Given the description of an element on the screen output the (x, y) to click on. 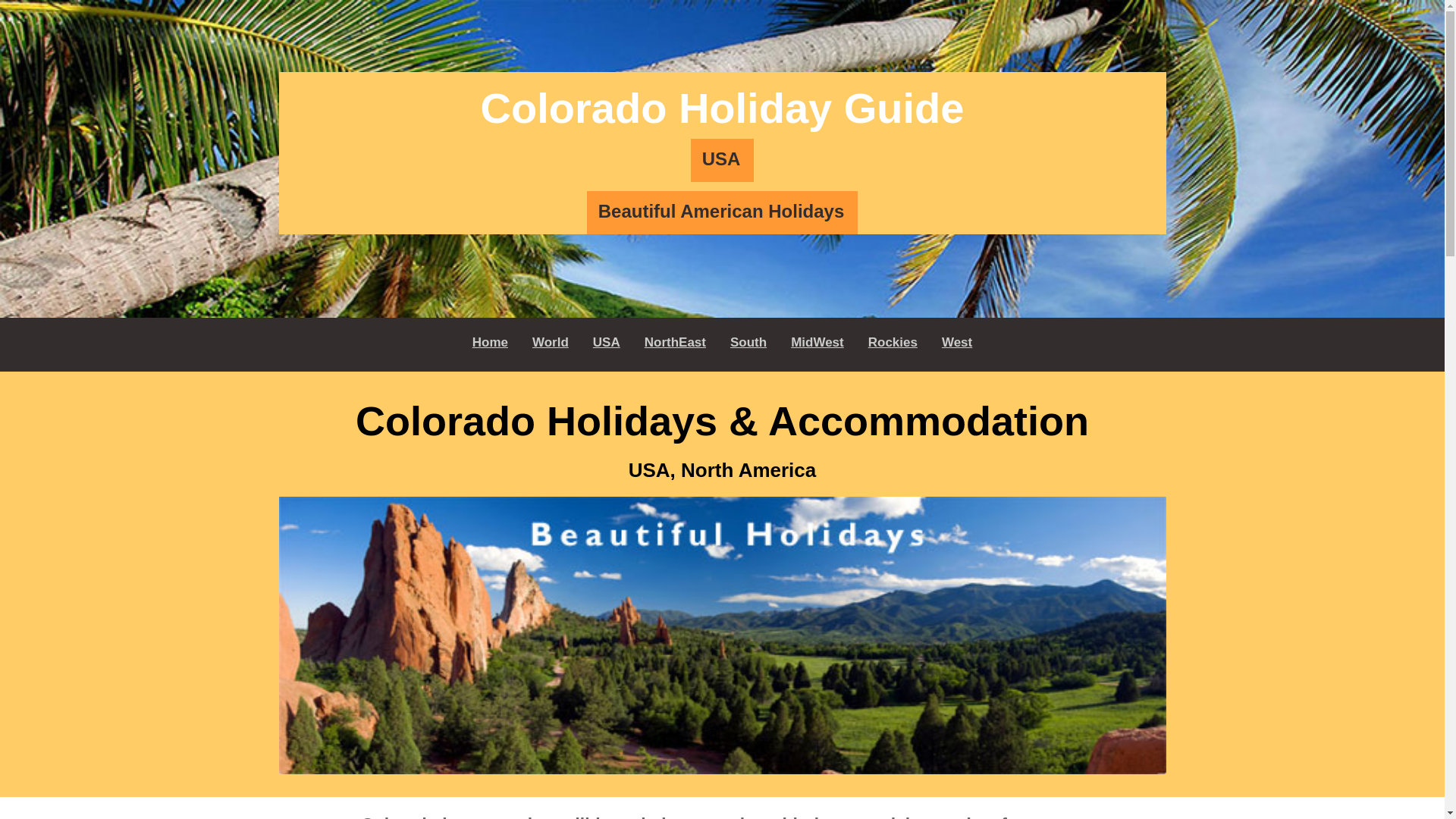
USA (722, 159)
NorthEast (674, 342)
Beautiful American Holidays (722, 212)
MidWest (817, 342)
Home (489, 342)
World (550, 342)
South (748, 342)
USA (605, 342)
